Given the description of an element on the screen output the (x, y) to click on. 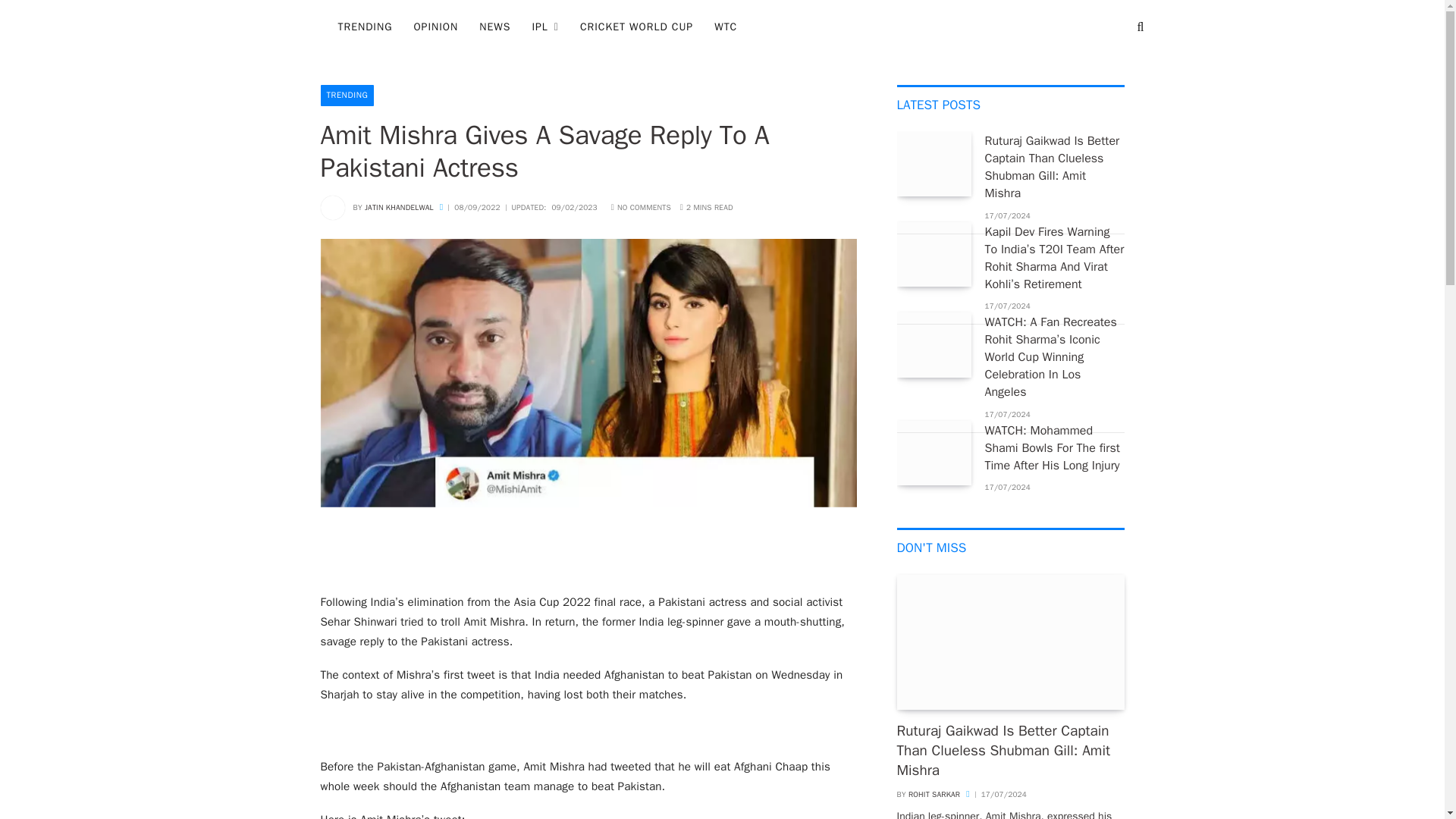
NO COMMENTS (641, 207)
Posts by Jatin Khandelwal (399, 207)
JATIN KHANDELWAL (399, 207)
CRICKET WORLD CUP (636, 27)
OPINION (435, 27)
TRENDING (347, 95)
NEWS (494, 27)
IPL (545, 27)
TRENDING (365, 27)
